Given the description of an element on the screen output the (x, y) to click on. 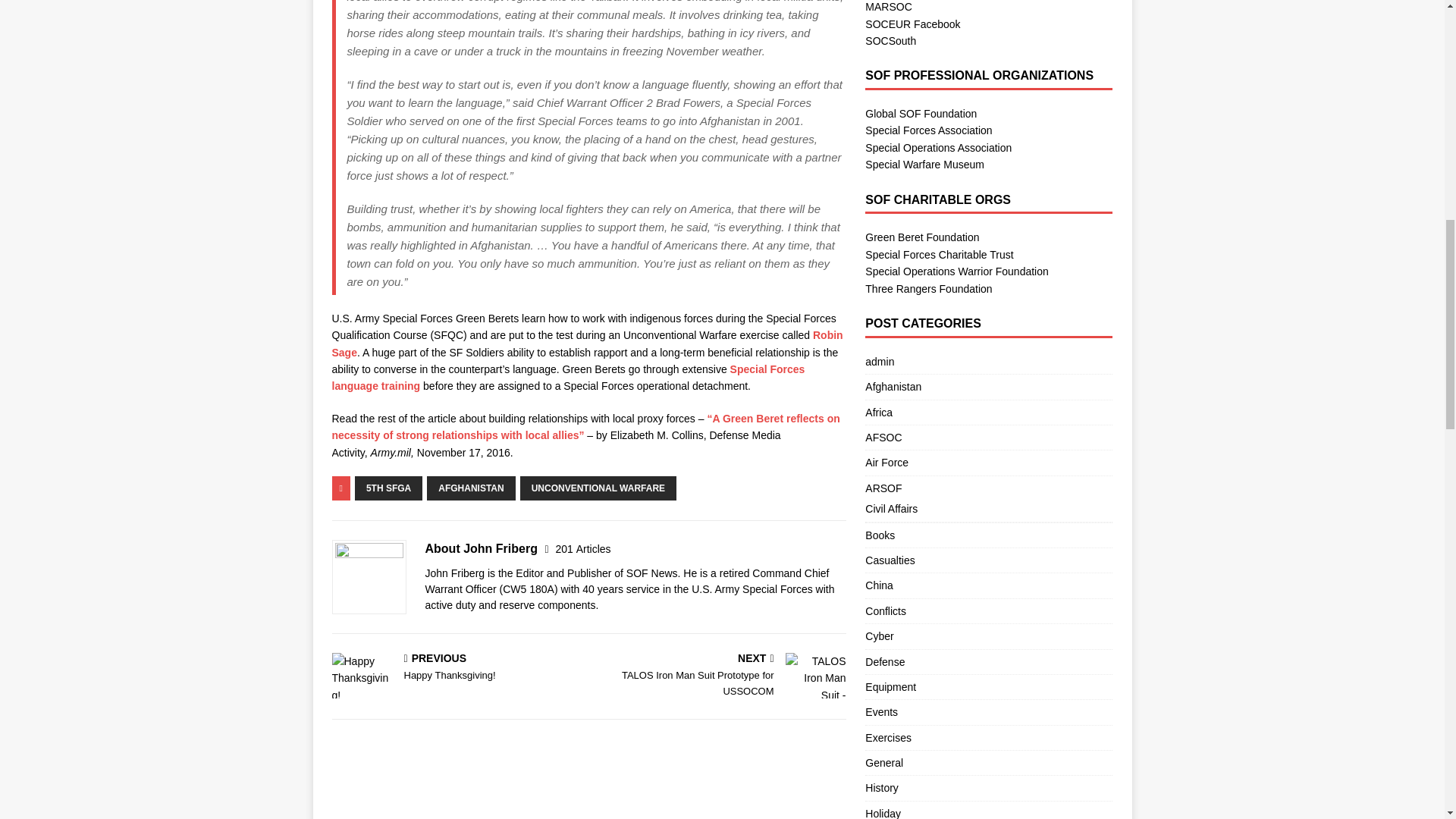
201 Articles (582, 548)
MARSOC (887, 6)
Special Warfare Museum (924, 164)
SOCEUR Facebook (911, 24)
UNCONVENTIONAL WARFARE (598, 487)
Robin Sage (587, 343)
Special Forces language training (568, 377)
AFGHANISTAN (470, 487)
Special Operations Association (937, 147)
Global SOF Foundation (920, 113)
